Given the description of an element on the screen output the (x, y) to click on. 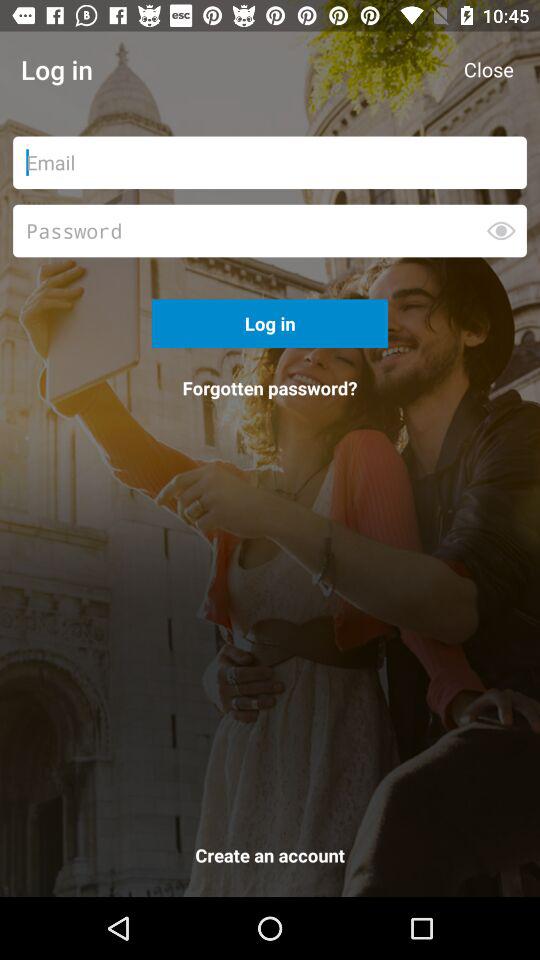
jump to create an account item (269, 859)
